Given the description of an element on the screen output the (x, y) to click on. 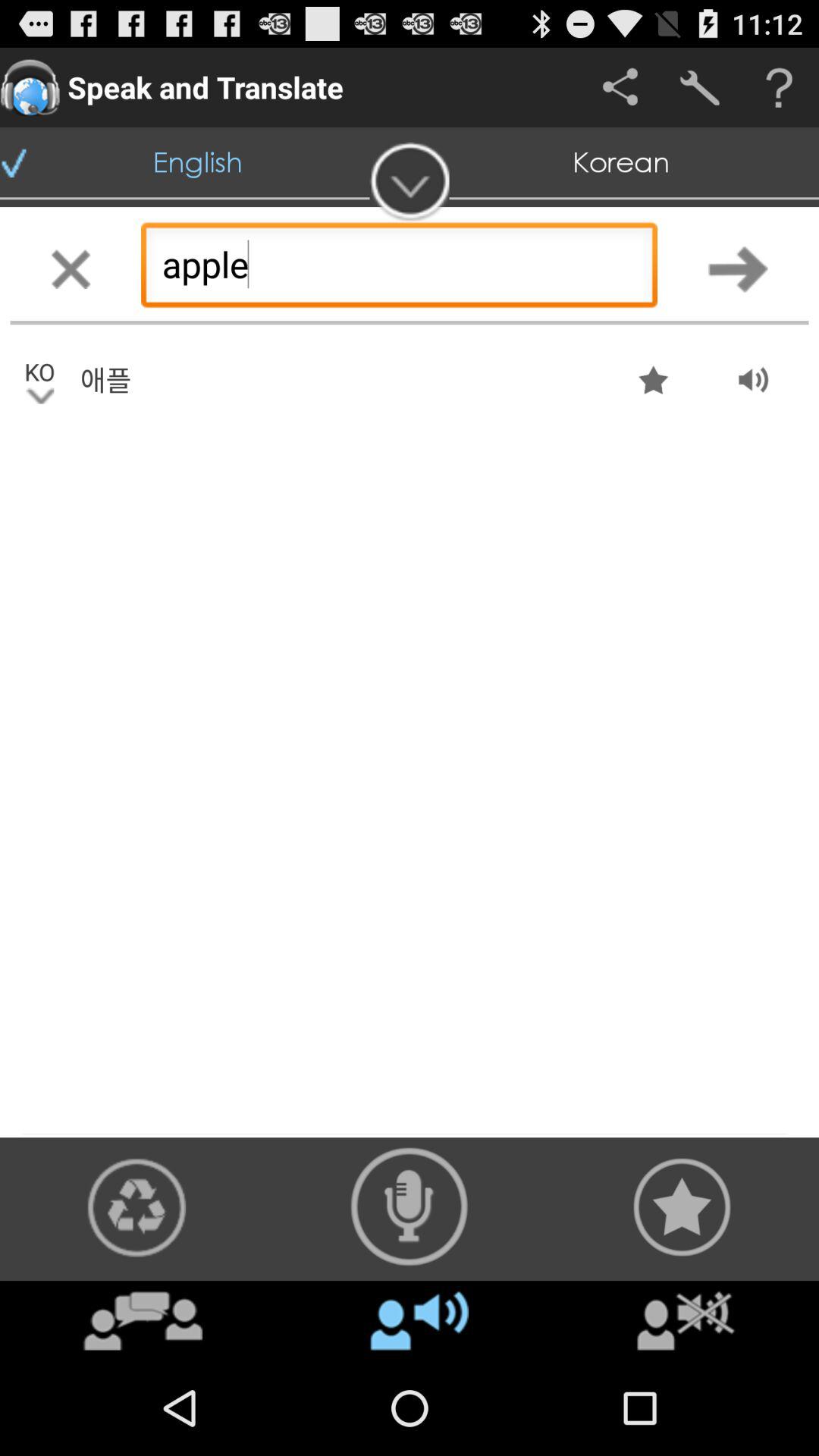
rack the auto (409, 1206)
